Given the description of an element on the screen output the (x, y) to click on. 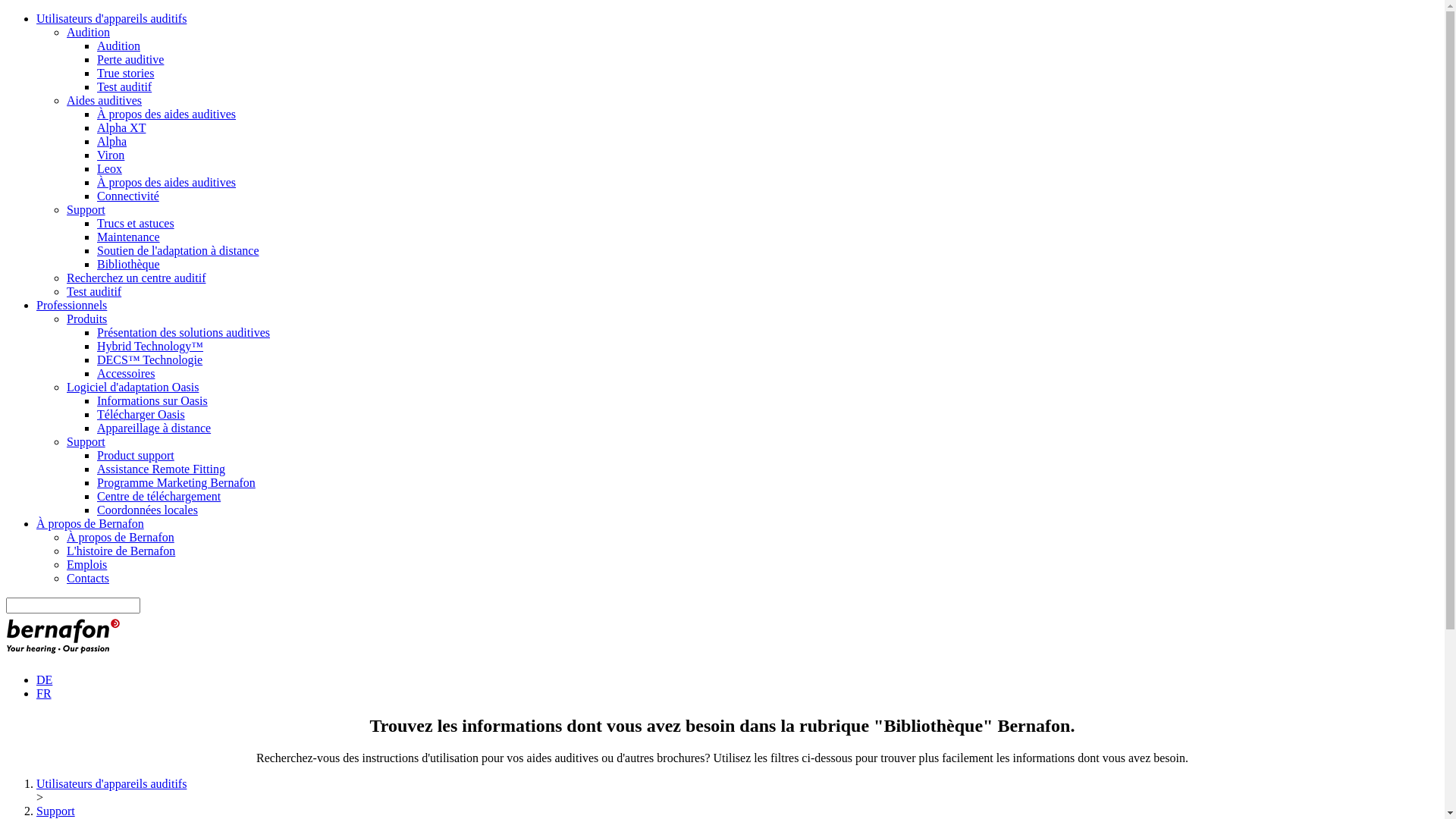
Test auditif Element type: text (124, 86)
Support Element type: text (85, 441)
L'histoire de Bernafon Element type: text (120, 550)
Leox Element type: text (109, 168)
Emplois Element type: text (86, 564)
Accessoires Element type: text (125, 373)
Viron Element type: text (110, 154)
Alpha XT Element type: text (121, 127)
Alpha Element type: text (111, 140)
Maintenance Element type: text (128, 236)
Utilisateurs d'appareils auditifs Element type: text (111, 783)
Assistance Remote Fitting Element type: text (161, 468)
Professionnels Element type: text (71, 304)
Support Element type: text (55, 810)
Perte auditive Element type: text (130, 59)
Audition Element type: text (87, 31)
Trucs et astuces Element type: text (135, 222)
Informations sur Oasis Element type: text (152, 400)
True stories Element type: text (125, 72)
Aides auditives Element type: text (103, 100)
Test auditif Element type: text (93, 291)
Audition Element type: text (118, 45)
Logiciel d'adaptation Oasis Element type: text (132, 386)
Contacts Element type: text (87, 577)
Programme Marketing Bernafon Element type: text (176, 482)
Recherchez un centre auditif Element type: text (135, 277)
FR Element type: text (43, 693)
Produits Element type: text (86, 318)
DE Element type: text (44, 679)
Utilisateurs d'appareils auditifs Element type: text (111, 18)
Product support Element type: text (135, 454)
Support Element type: text (85, 209)
